Given the description of an element on the screen output the (x, y) to click on. 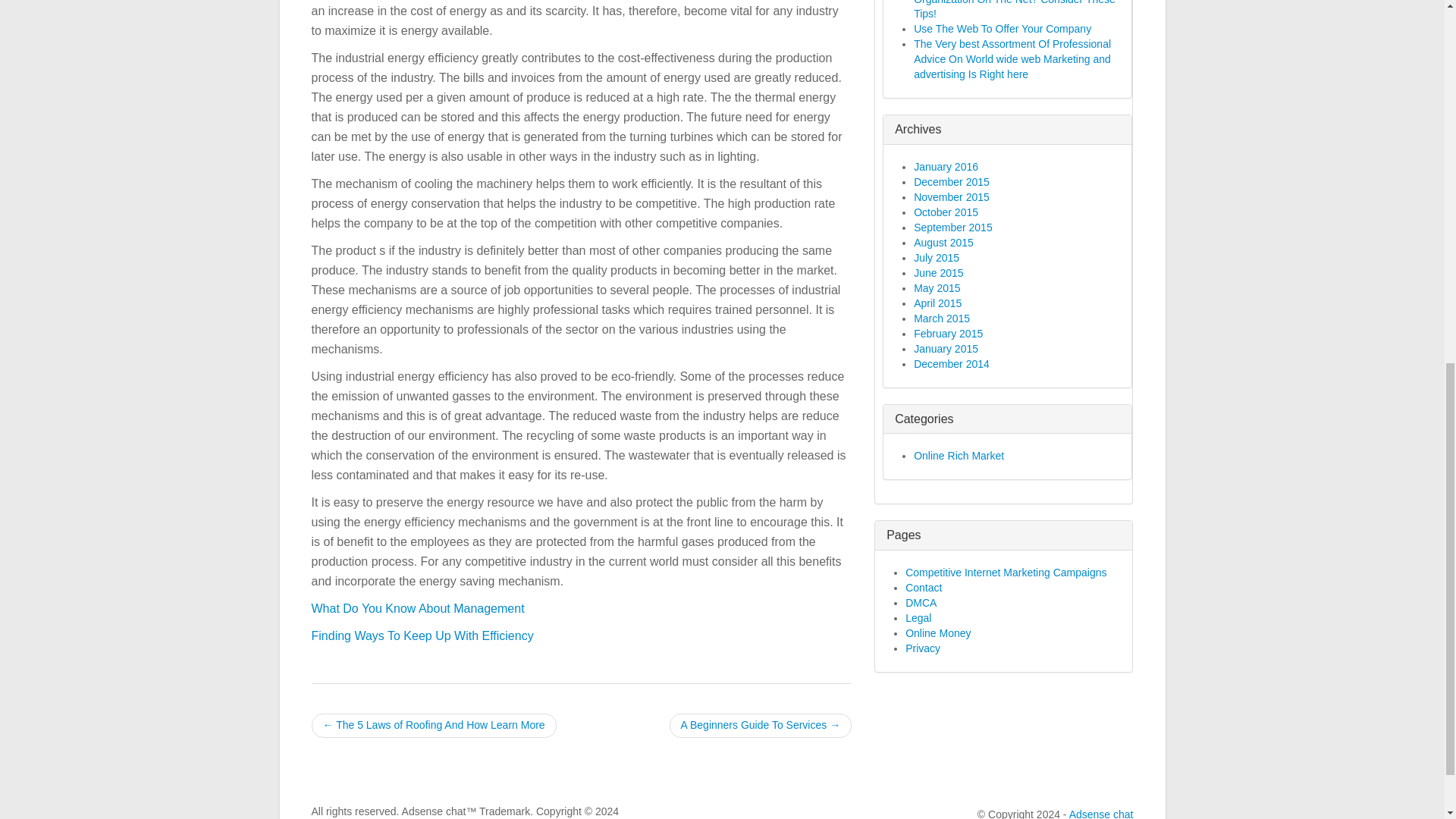
Privacy (922, 648)
April 2015 (937, 303)
January 2016 (946, 166)
January 2015 (946, 348)
May 2015 (936, 287)
October 2015 (946, 212)
June 2015 (938, 272)
March 2015 (941, 318)
Legal (918, 617)
